Given the description of an element on the screen output the (x, y) to click on. 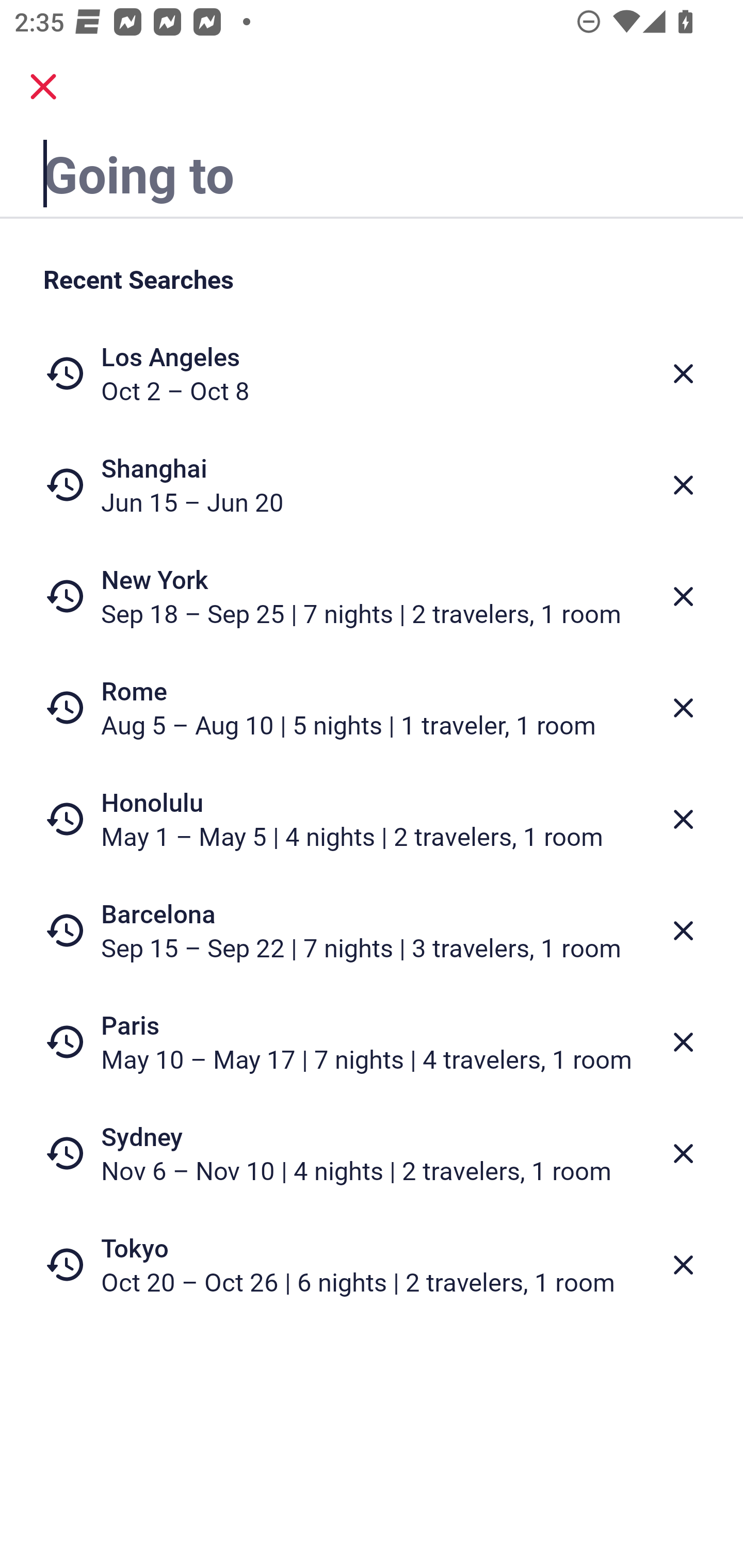
close. (43, 86)
Los Angeles Oct 2 – Oct 8 (371, 373)
Delete from recent searches (683, 373)
Shanghai Jun 15 – Jun 20 (371, 484)
Delete from recent searches (683, 485)
Delete from recent searches (683, 596)
Delete from recent searches (683, 707)
Delete from recent searches (683, 819)
Delete from recent searches (683, 930)
Delete from recent searches (683, 1041)
Delete from recent searches (683, 1153)
Delete from recent searches (683, 1265)
